Given the description of an element on the screen output the (x, y) to click on. 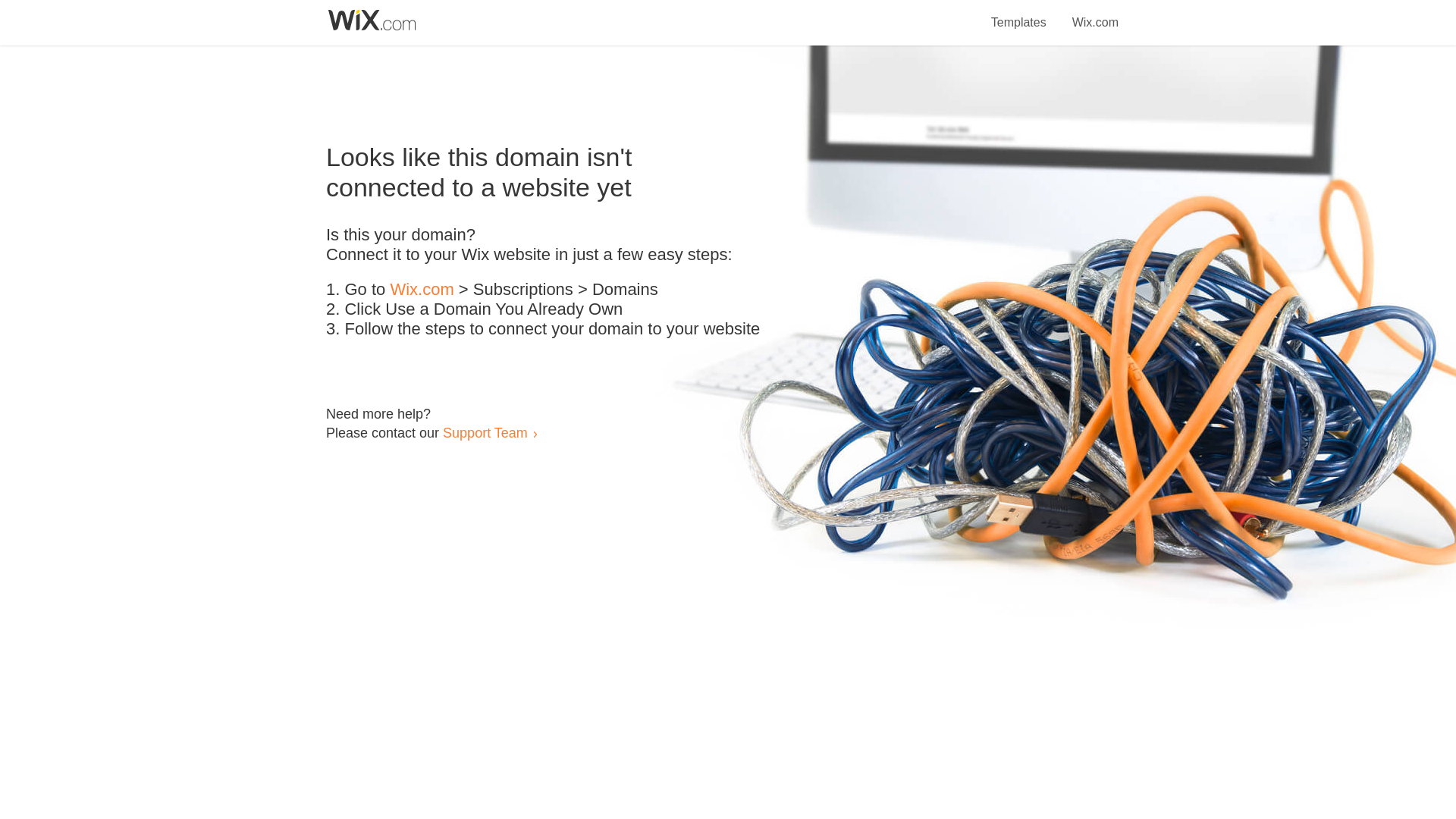
Support Team (484, 432)
Wix.com (1095, 14)
Wix.com (421, 289)
Templates (1018, 14)
